Given the description of an element on the screen output the (x, y) to click on. 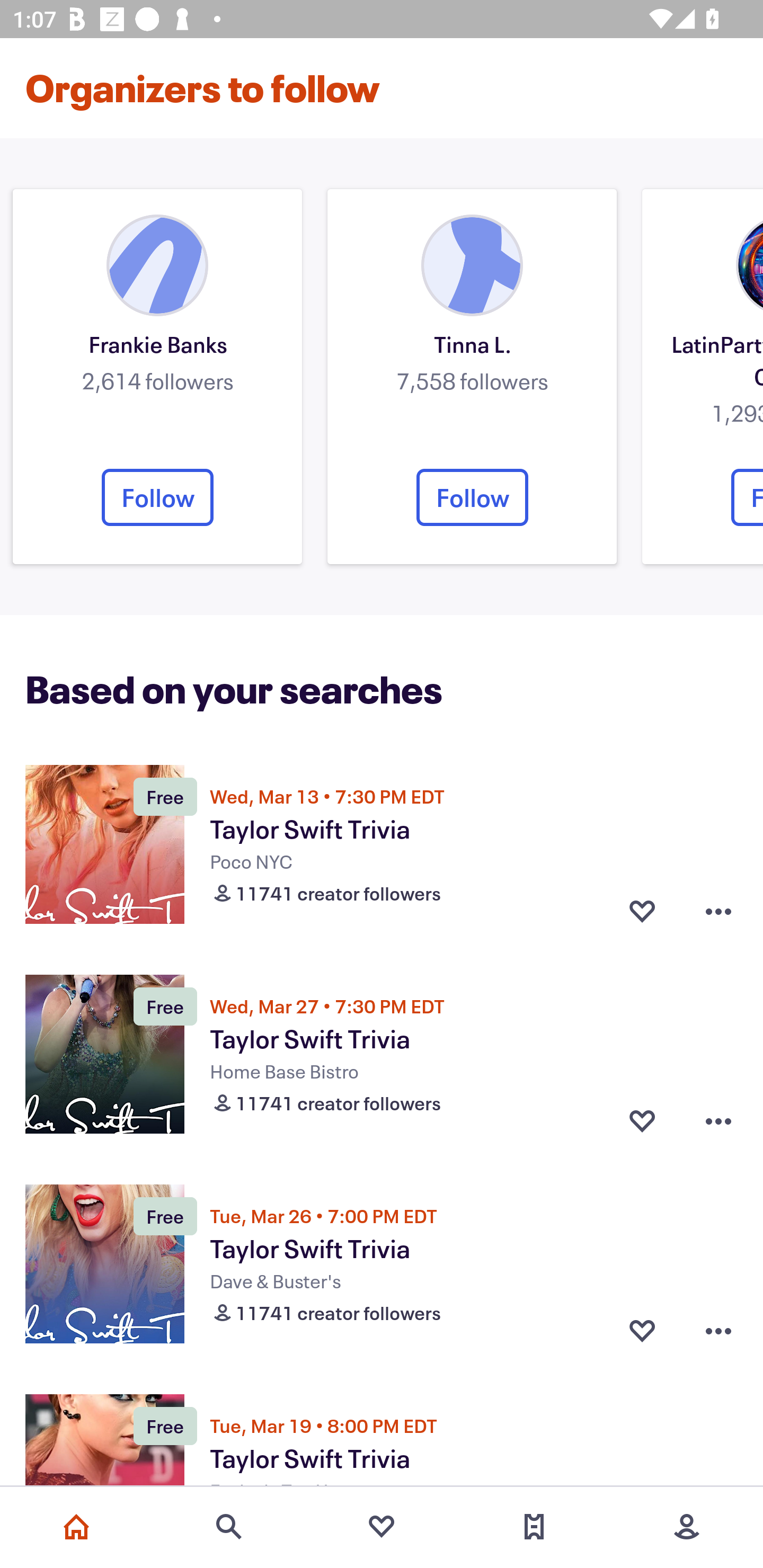
Follow Organizer's follow button (157, 496)
Follow Organizer's follow button (471, 496)
Favorite button (642, 910)
Overflow menu button (718, 910)
Favorite button (642, 1120)
Overflow menu button (718, 1120)
Favorite button (642, 1330)
Overflow menu button (718, 1330)
Home (76, 1526)
Search events (228, 1526)
Favorites (381, 1526)
Tickets (533, 1526)
More (686, 1526)
